Given the description of an element on the screen output the (x, y) to click on. 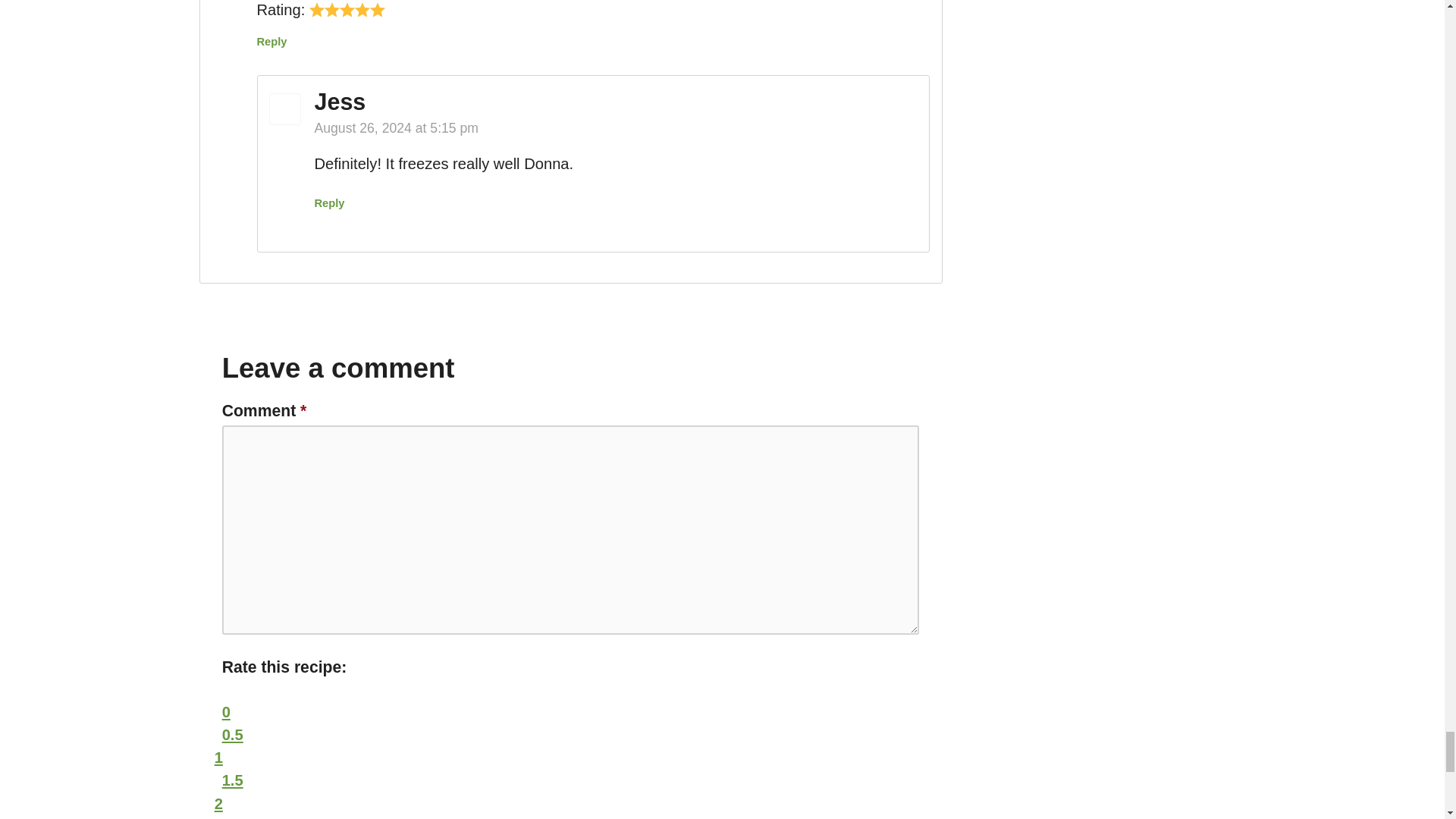
1.5 (232, 780)
0.5 (232, 734)
